Given the description of an element on the screen output the (x, y) to click on. 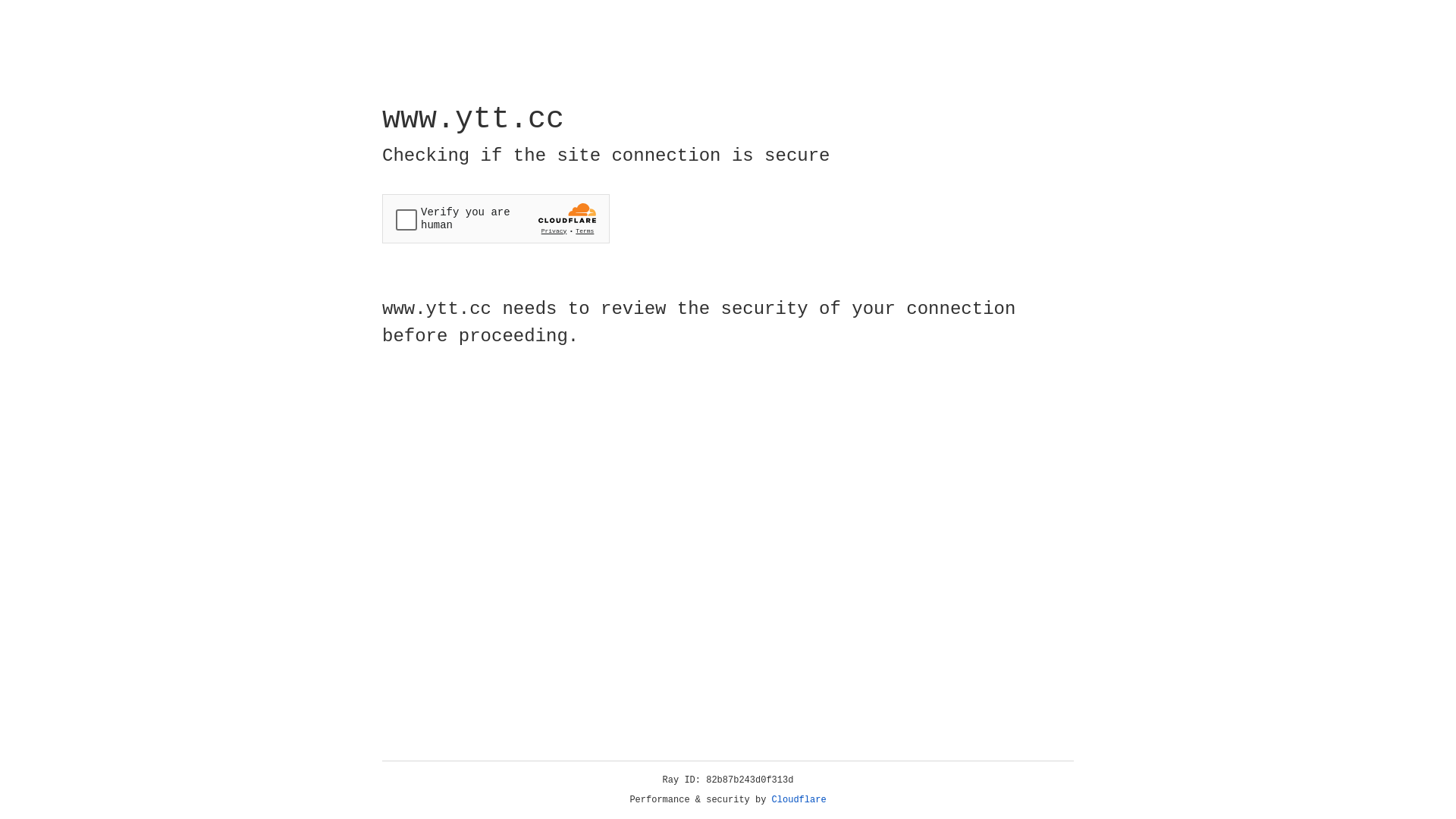
Cloudflare Element type: text (798, 799)
Widget containing a Cloudflare security challenge Element type: hover (495, 218)
